Given the description of an element on the screen output the (x, y) to click on. 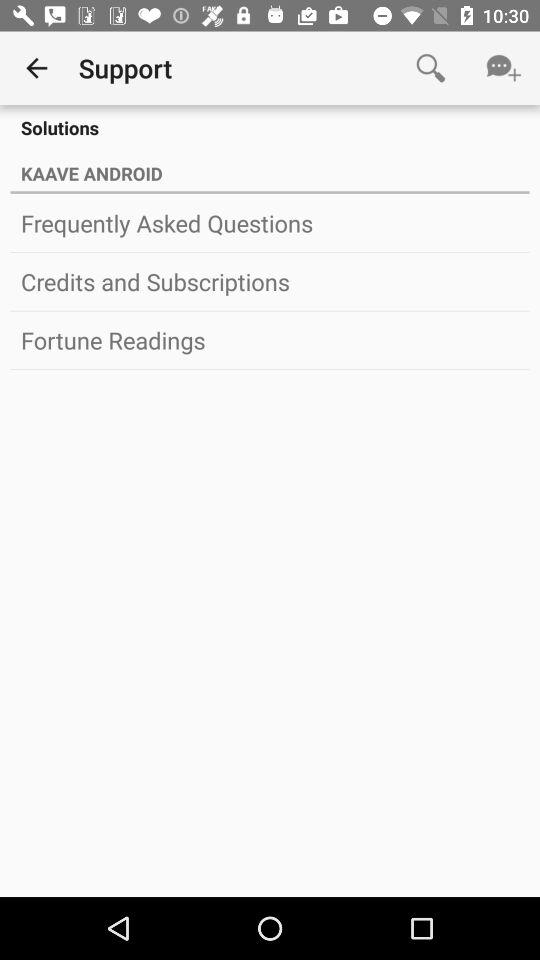
open the icon at the center (269, 340)
